Given the description of an element on the screen output the (x, y) to click on. 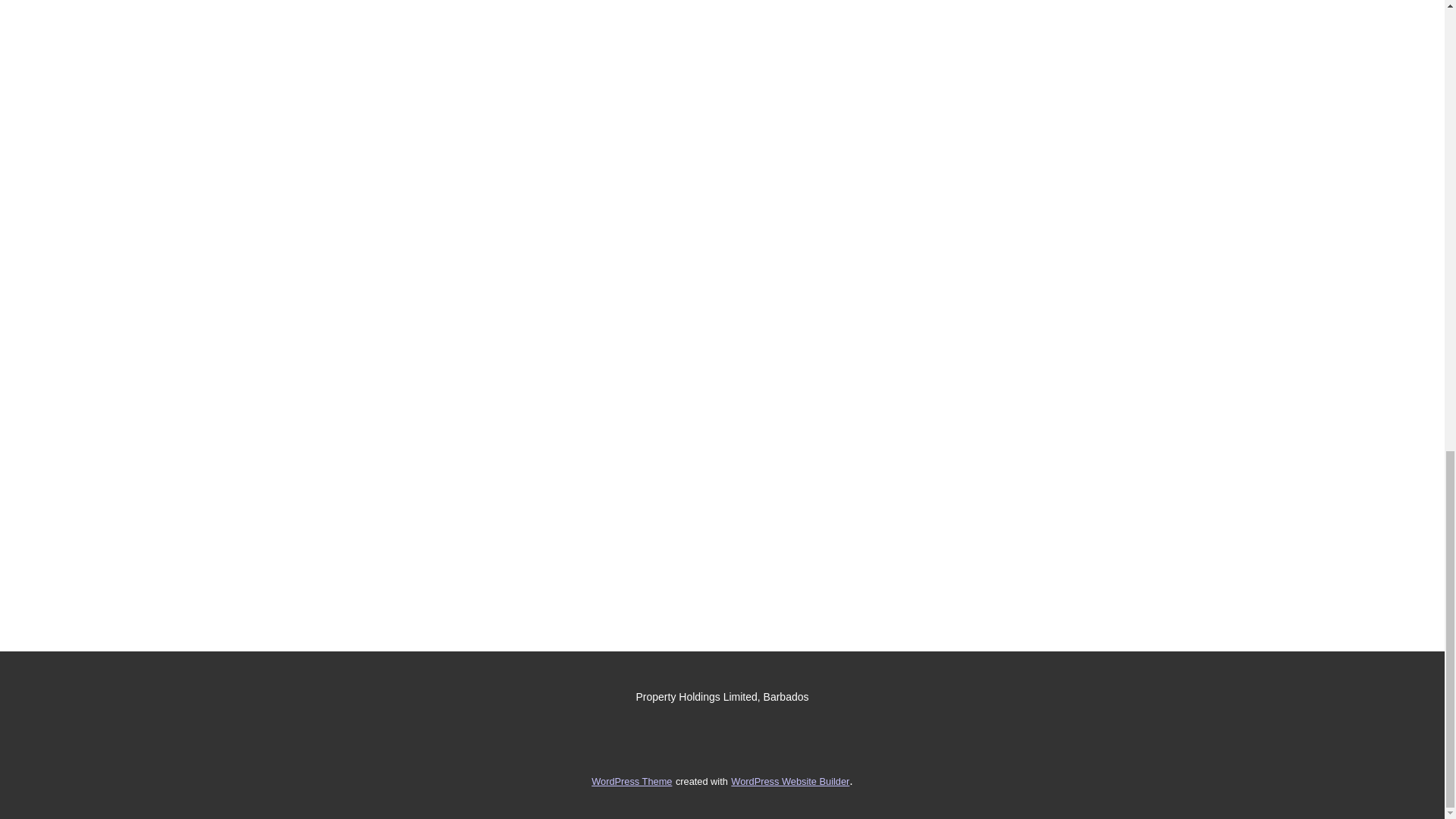
WordPress Theme (631, 780)
WordPress Website Builder (789, 780)
